Given the description of an element on the screen output the (x, y) to click on. 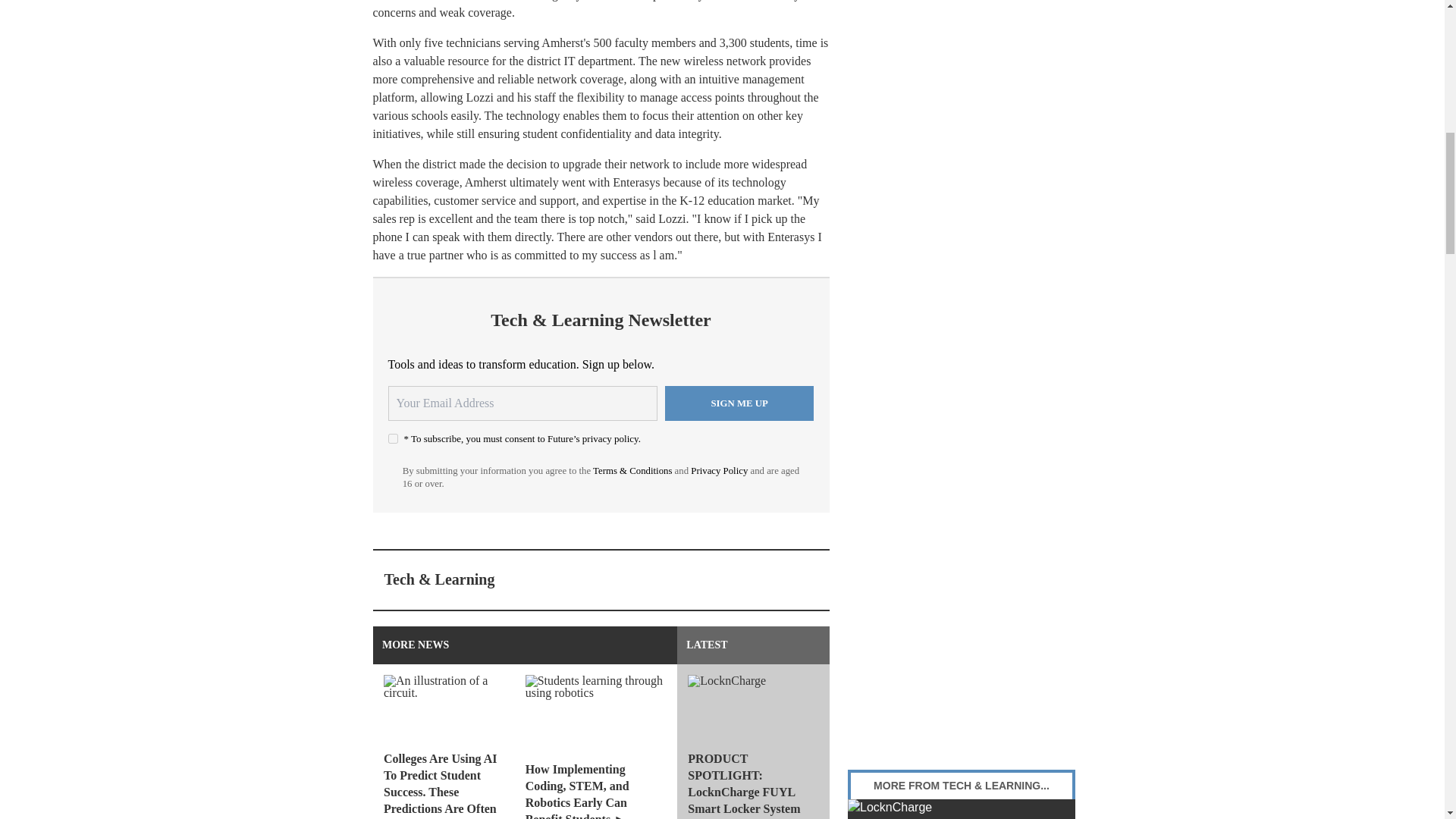
Privacy Policy (719, 470)
on (392, 438)
Sign me up (739, 402)
Sign me up (739, 402)
